Given the description of an element on the screen output the (x, y) to click on. 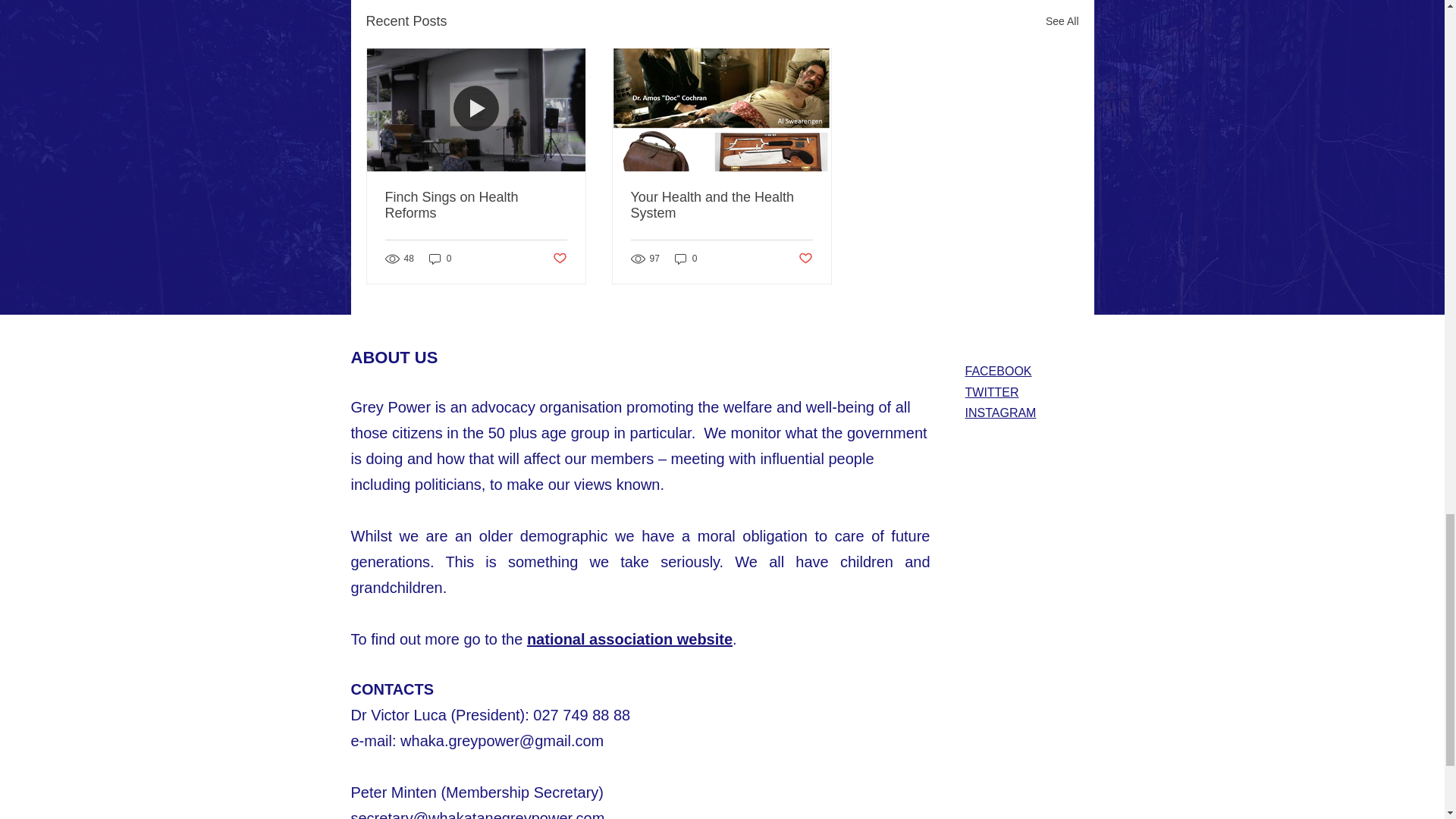
Post not marked as liked (558, 258)
FACEBOOK (996, 370)
Post not marked as liked (804, 258)
national association website (629, 638)
INSTAGRAM (999, 412)
0 (440, 258)
TWITTER (990, 391)
0 (685, 258)
Your Health and the Health System (721, 205)
Finch Sings on Health Reforms (476, 205)
